Given the description of an element on the screen output the (x, y) to click on. 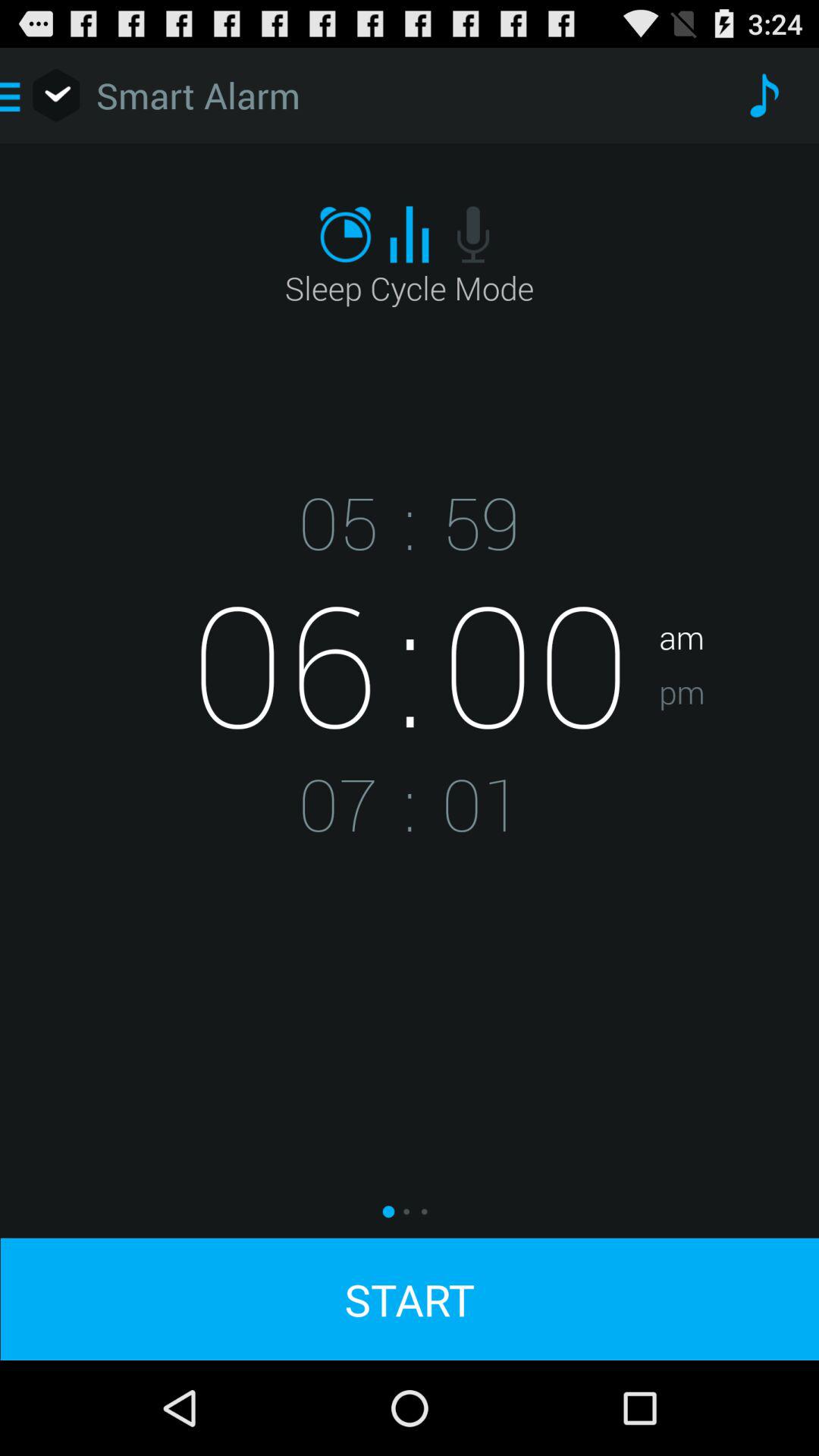
tap item above am app (763, 95)
